Given the description of an element on the screen output the (x, y) to click on. 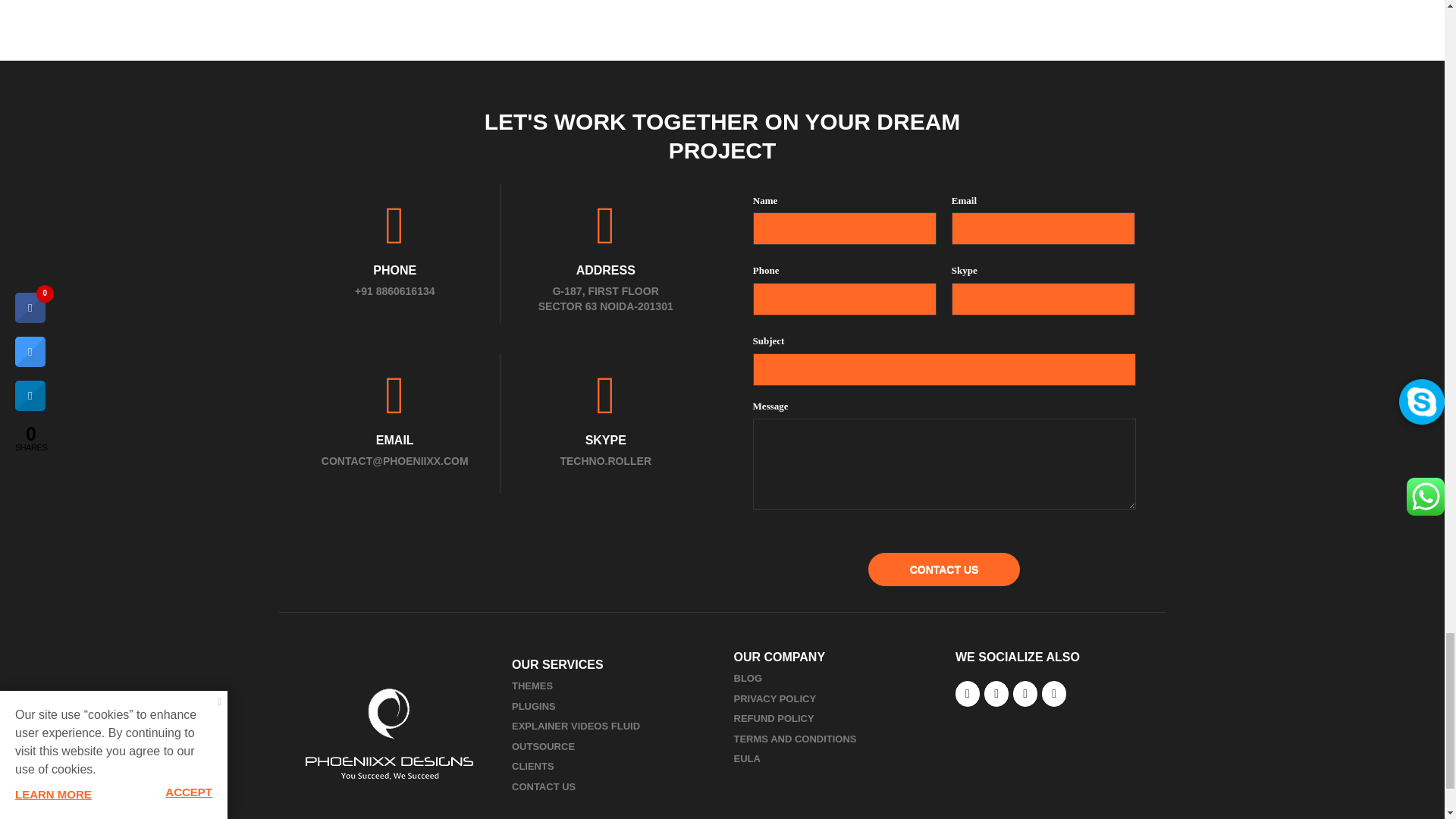
Phoeniixx on X Twitter (996, 693)
Phoeniixx on Google (1024, 693)
Phoeniixx on Facebook (967, 693)
Phoeniixx on Youtube (1053, 693)
